Given the description of an element on the screen output the (x, y) to click on. 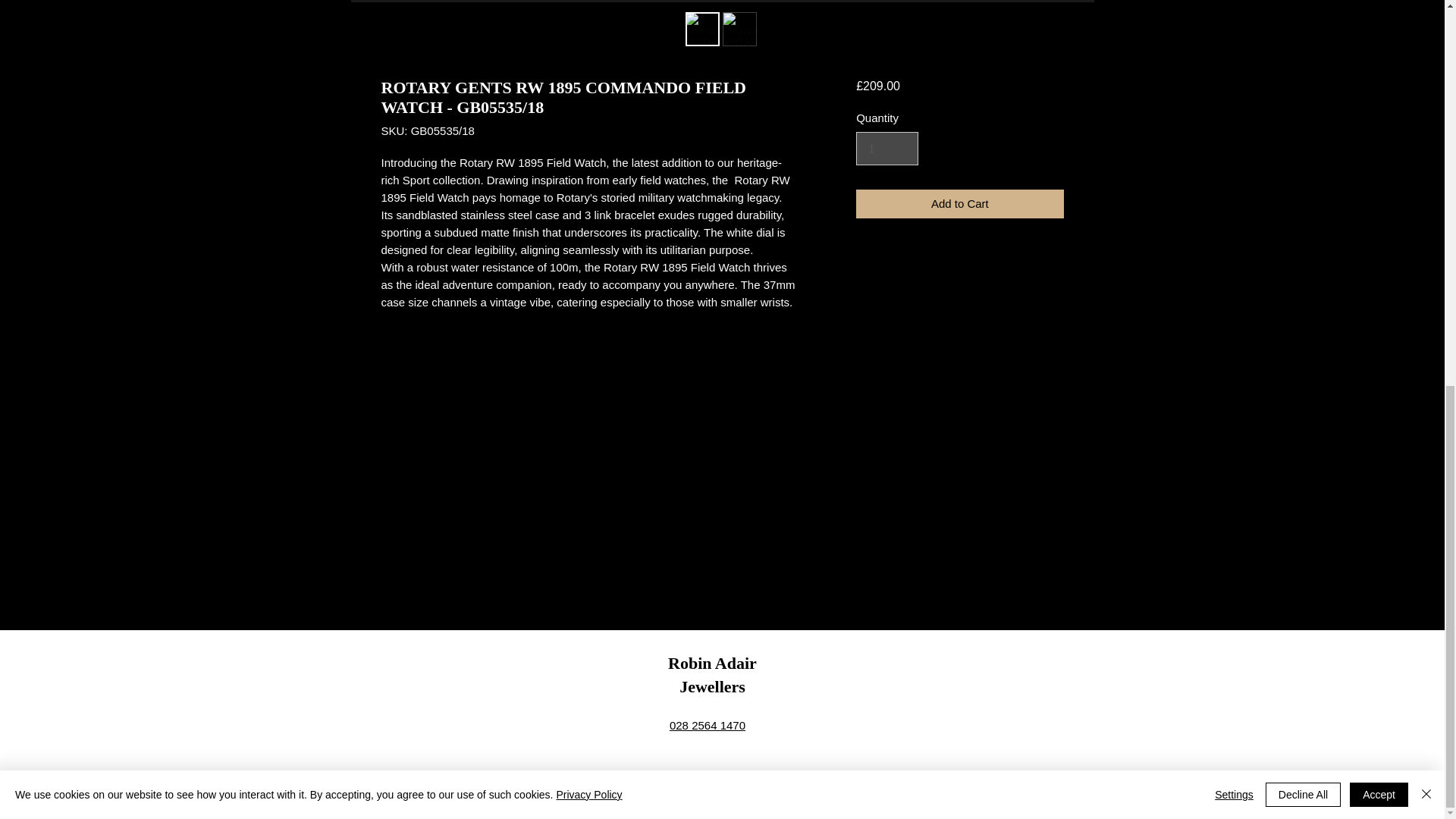
Add to Cart (959, 204)
1 (887, 148)
